Given the description of an element on the screen output the (x, y) to click on. 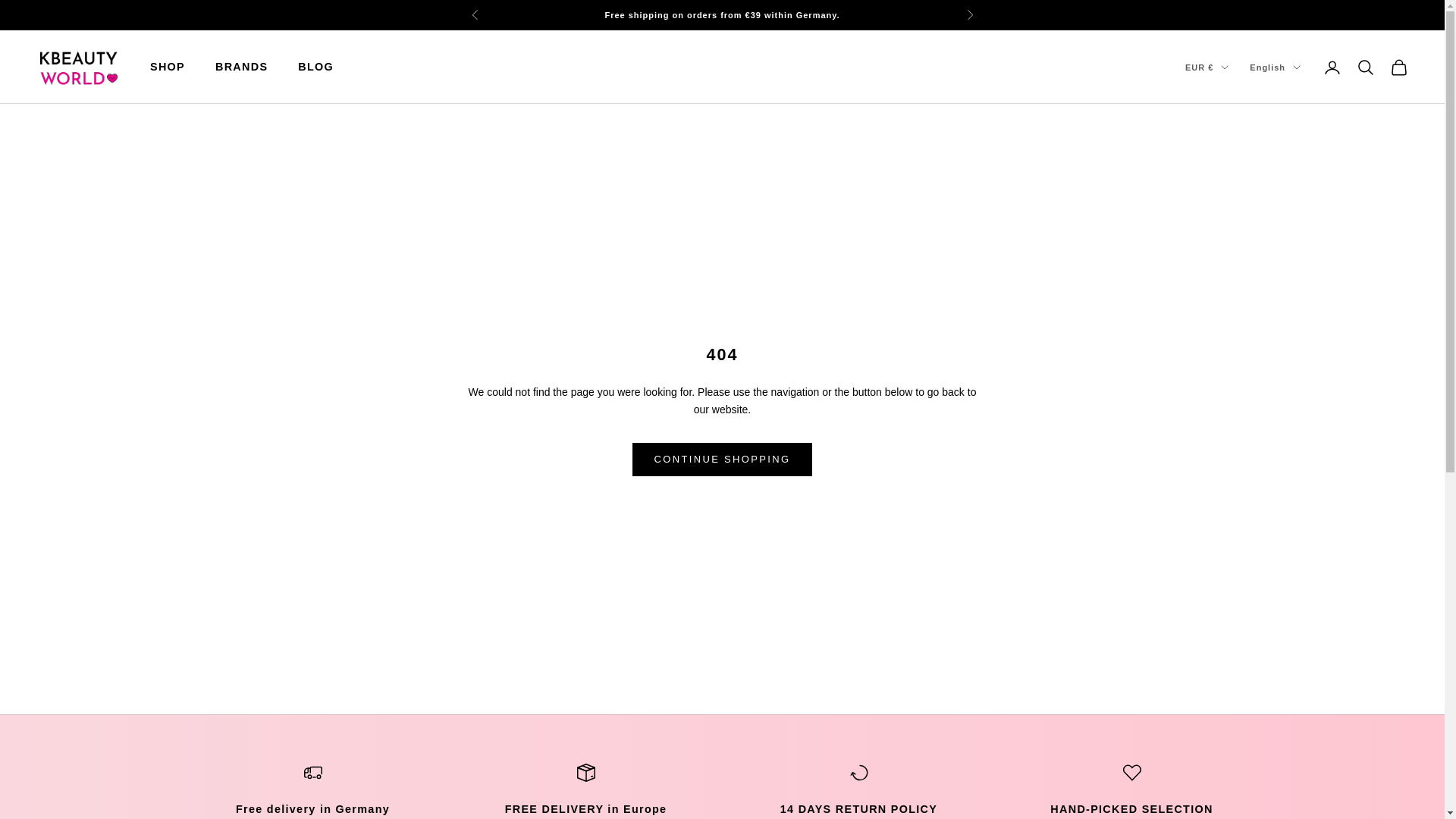
K Beauty World (77, 67)
